Given the description of an element on the screen output the (x, y) to click on. 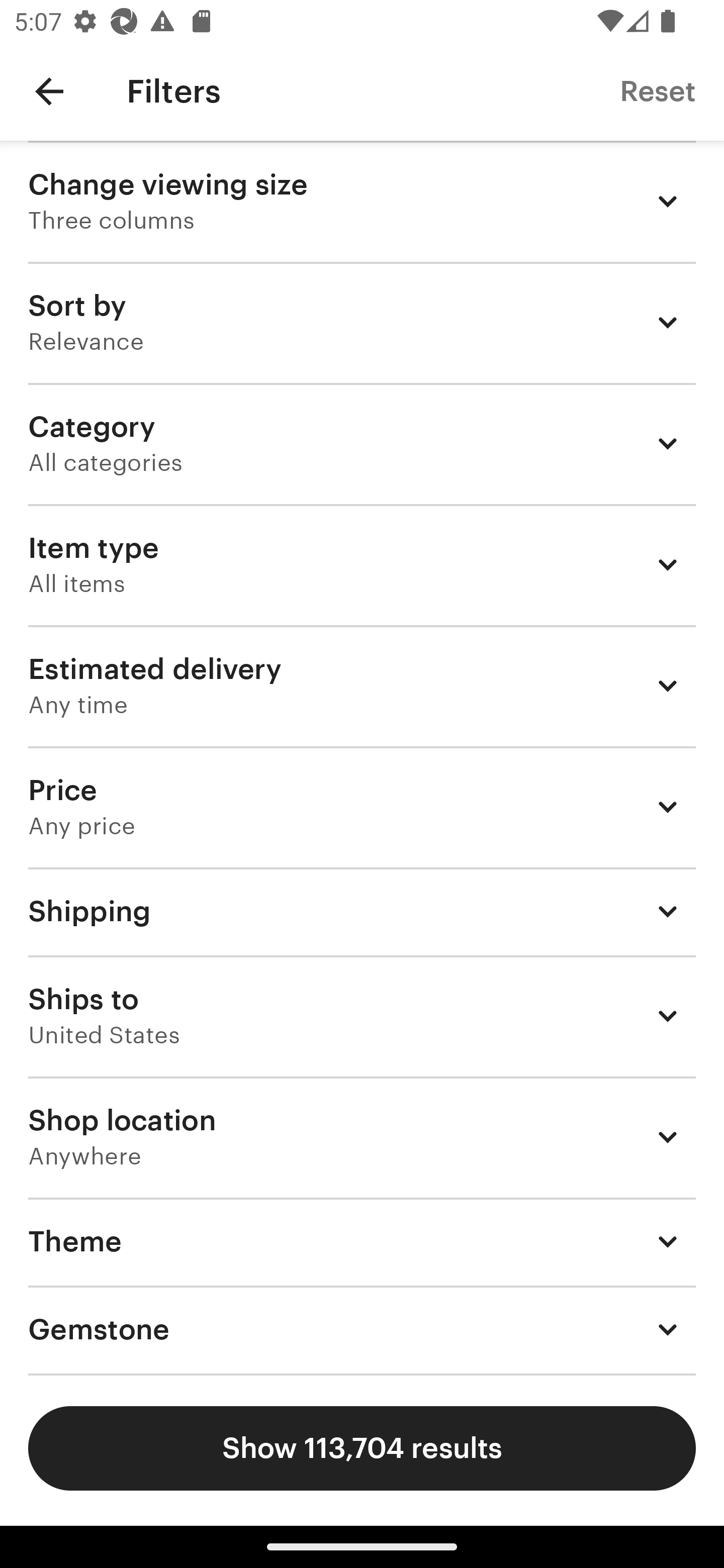
Navigate up (49, 91)
Reset (657, 90)
Change viewing size Three columns (362, 201)
Sort by Relevance (362, 321)
Category All categories (362, 442)
Item type All items (362, 564)
Estimated delivery Any time (362, 685)
Price Any price (362, 806)
Shipping (362, 910)
Ships to United States (362, 1015)
Shop location Anywhere (362, 1137)
Theme (362, 1241)
Gemstone (362, 1329)
Show 113,704 results Show results (361, 1448)
